Given the description of an element on the screen output the (x, y) to click on. 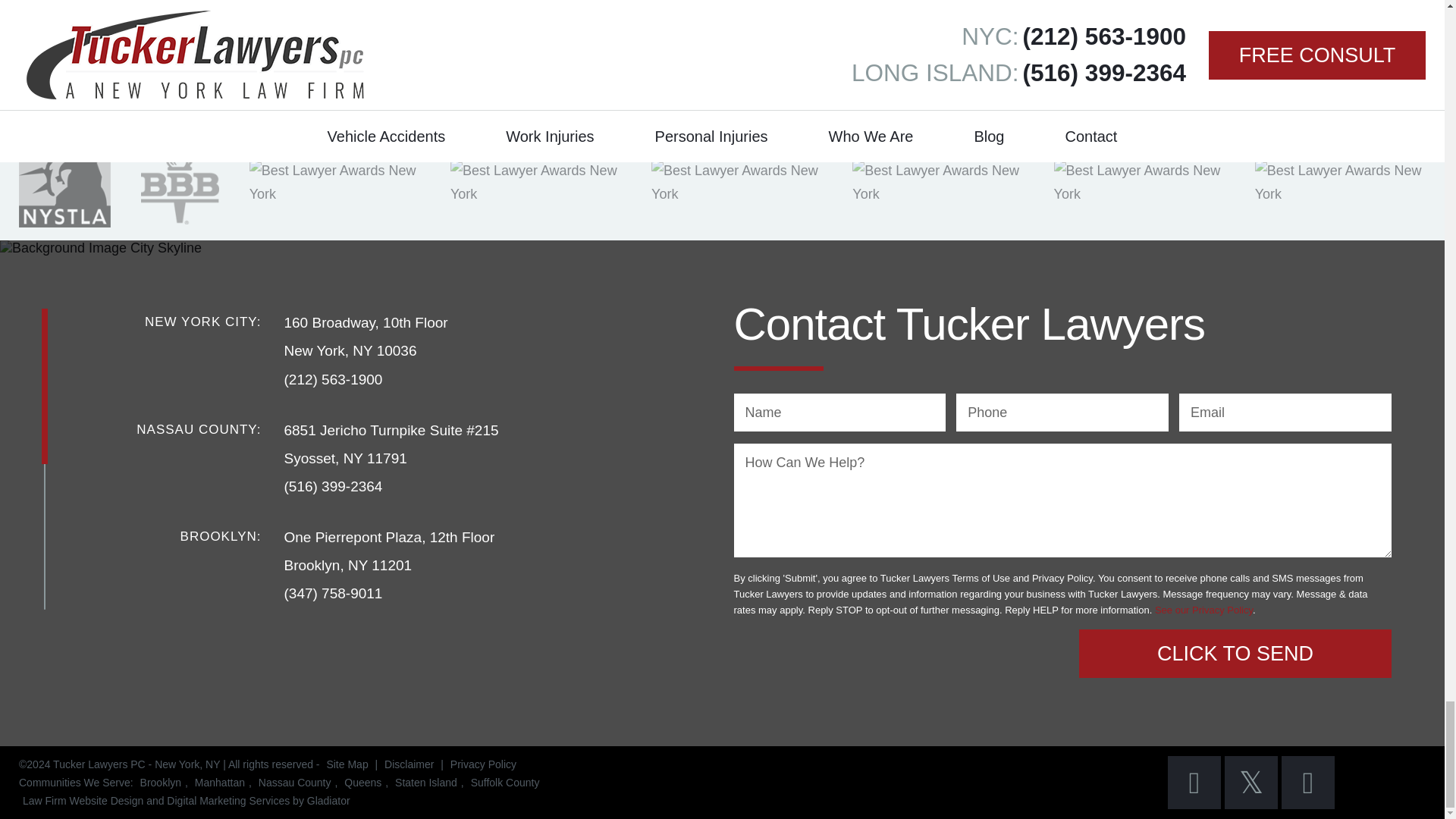
New York City Personal Injury Lawyers (219, 782)
Queens Personal Injury Lawyer (362, 782)
Legal Disclaimer (409, 764)
Nassau County Personal Injury Lawyer (294, 782)
Suffolk County Personal Injury Lawyer (505, 782)
click to send (1234, 653)
Staten Island Personal Injury Lawyer (426, 782)
HTML Sitemap (346, 764)
Gladiator Law Marketing (185, 800)
Privacy Policy (482, 764)
